Given the description of an element on the screen output the (x, y) to click on. 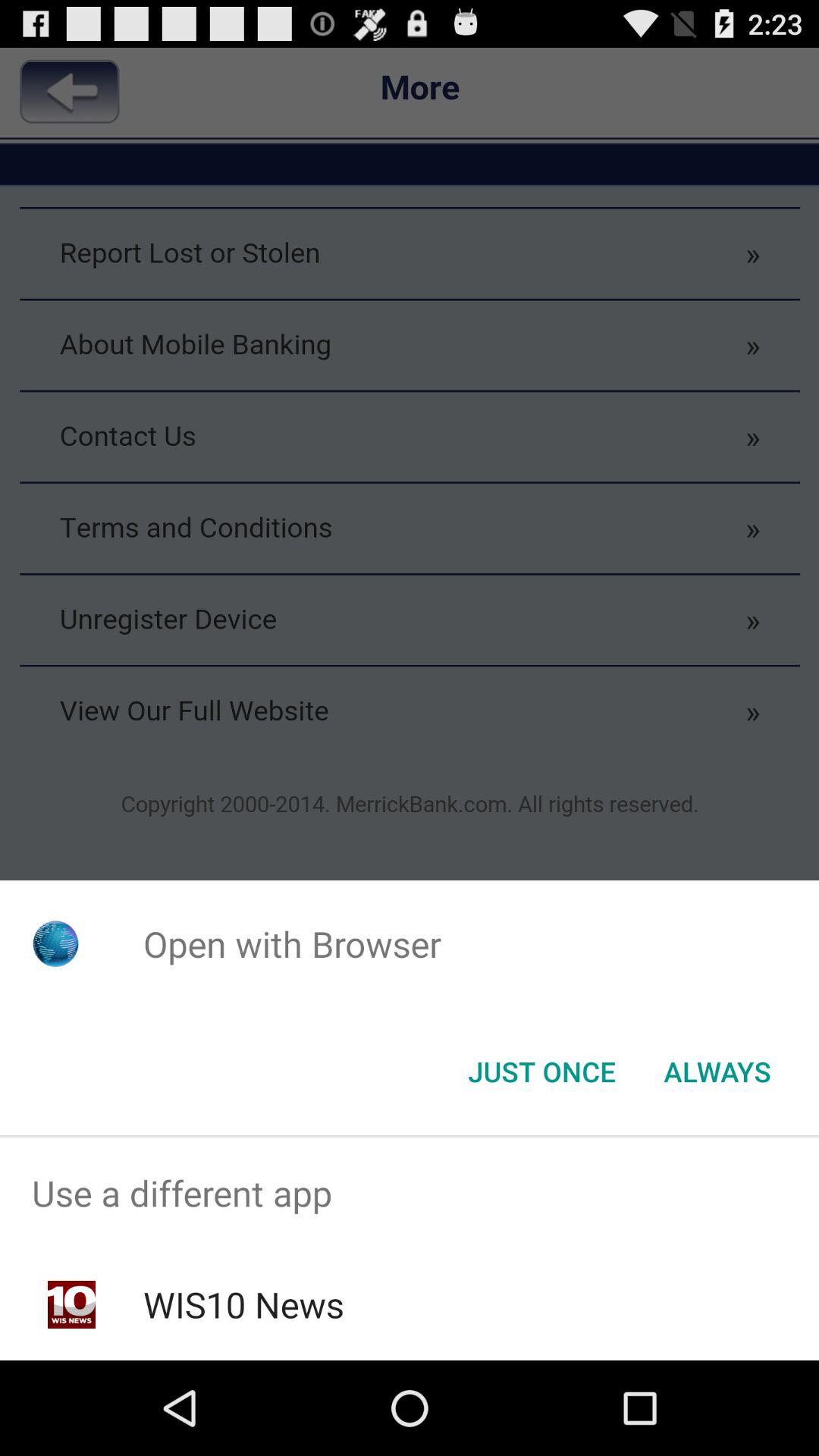
swipe until always (717, 1071)
